Given the description of an element on the screen output the (x, y) to click on. 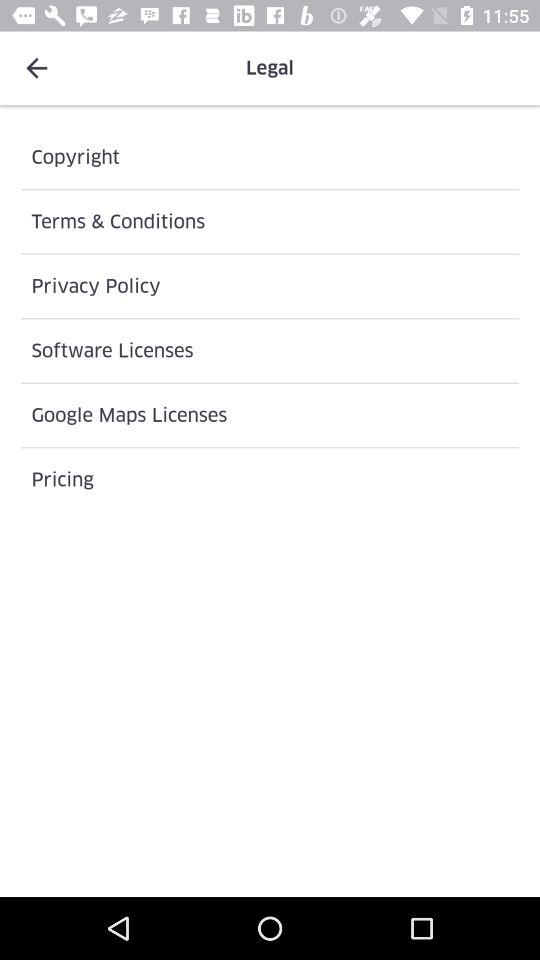
swipe to the software licenses icon (270, 350)
